Given the description of an element on the screen output the (x, y) to click on. 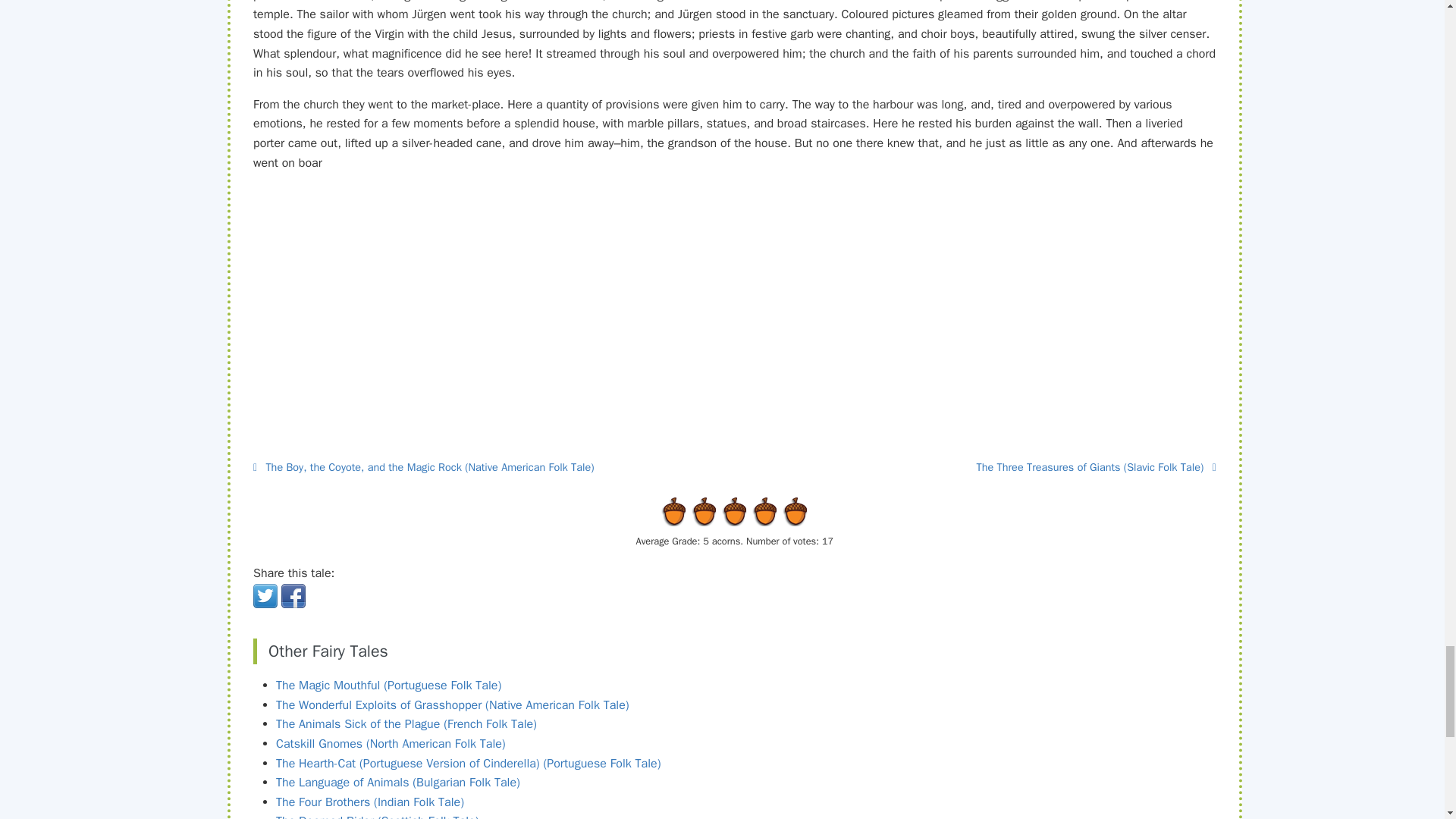
2 (689, 511)
1 (673, 511)
3 (704, 511)
4 (719, 511)
5 (734, 511)
